Given the description of an element on the screen output the (x, y) to click on. 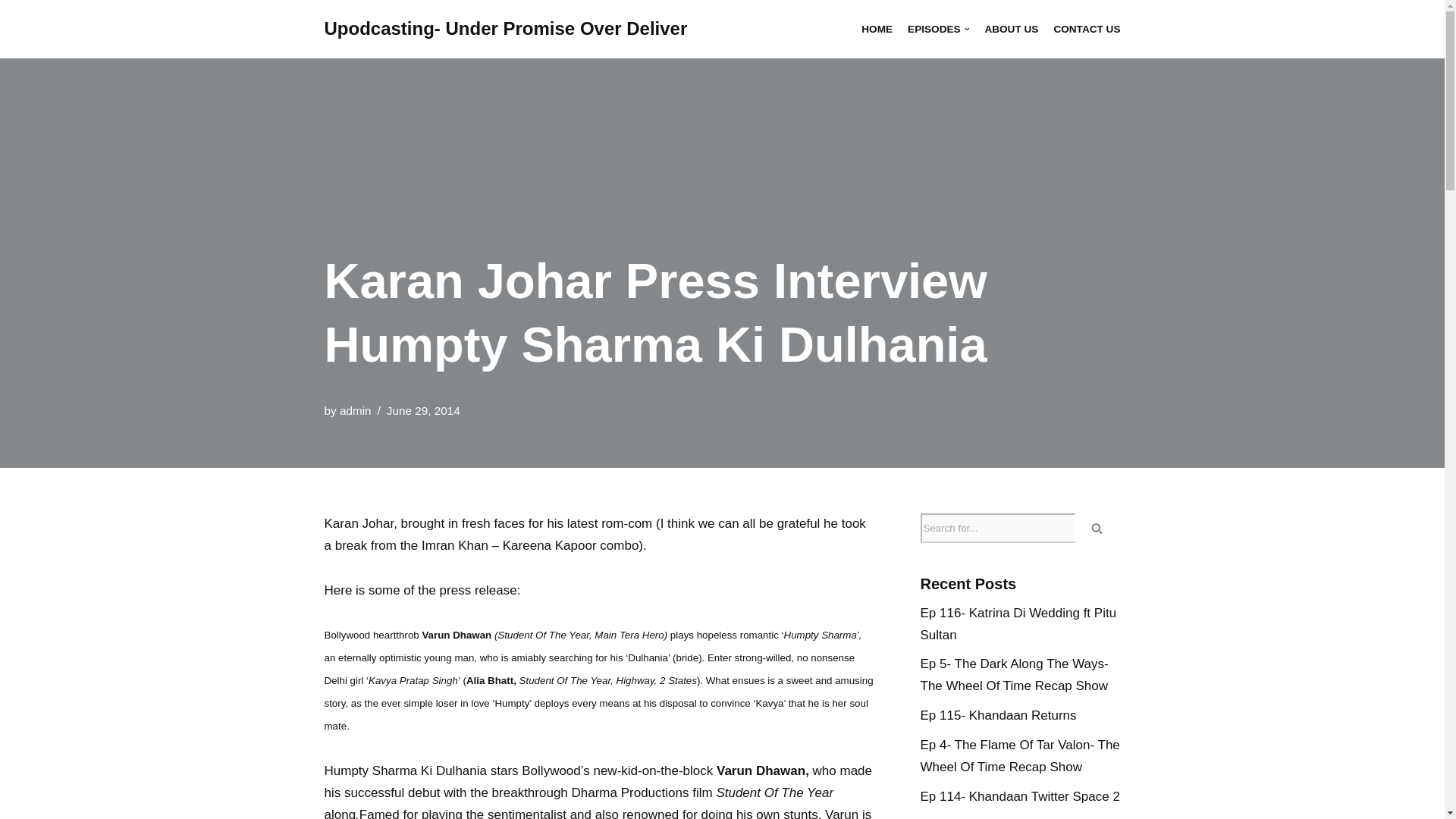
admin (355, 410)
Posts by admin (355, 410)
Skip to content (11, 31)
CONTACT US (1085, 28)
HOME (876, 28)
Ep 116- Katrina Di Wedding ft Pitu Sultan (1018, 624)
EPISODES (938, 28)
Ep 5- The Dark Along The Ways- The Wheel Of Time Recap Show (1014, 674)
Upodcasting- Under Promise Over Deliver (505, 29)
ABOUT US (1011, 28)
